Given the description of an element on the screen output the (x, y) to click on. 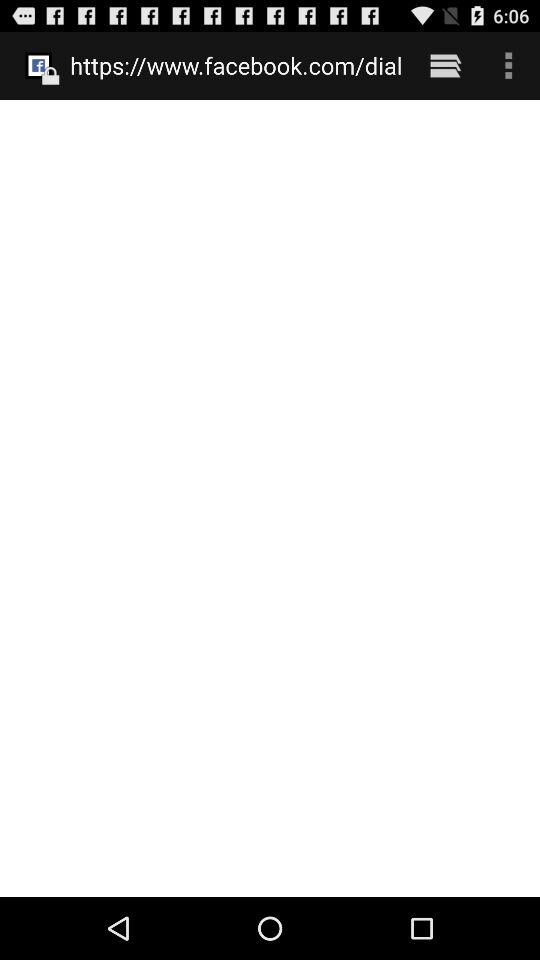
open the icon below the https www facebook item (270, 497)
